Given the description of an element on the screen output the (x, y) to click on. 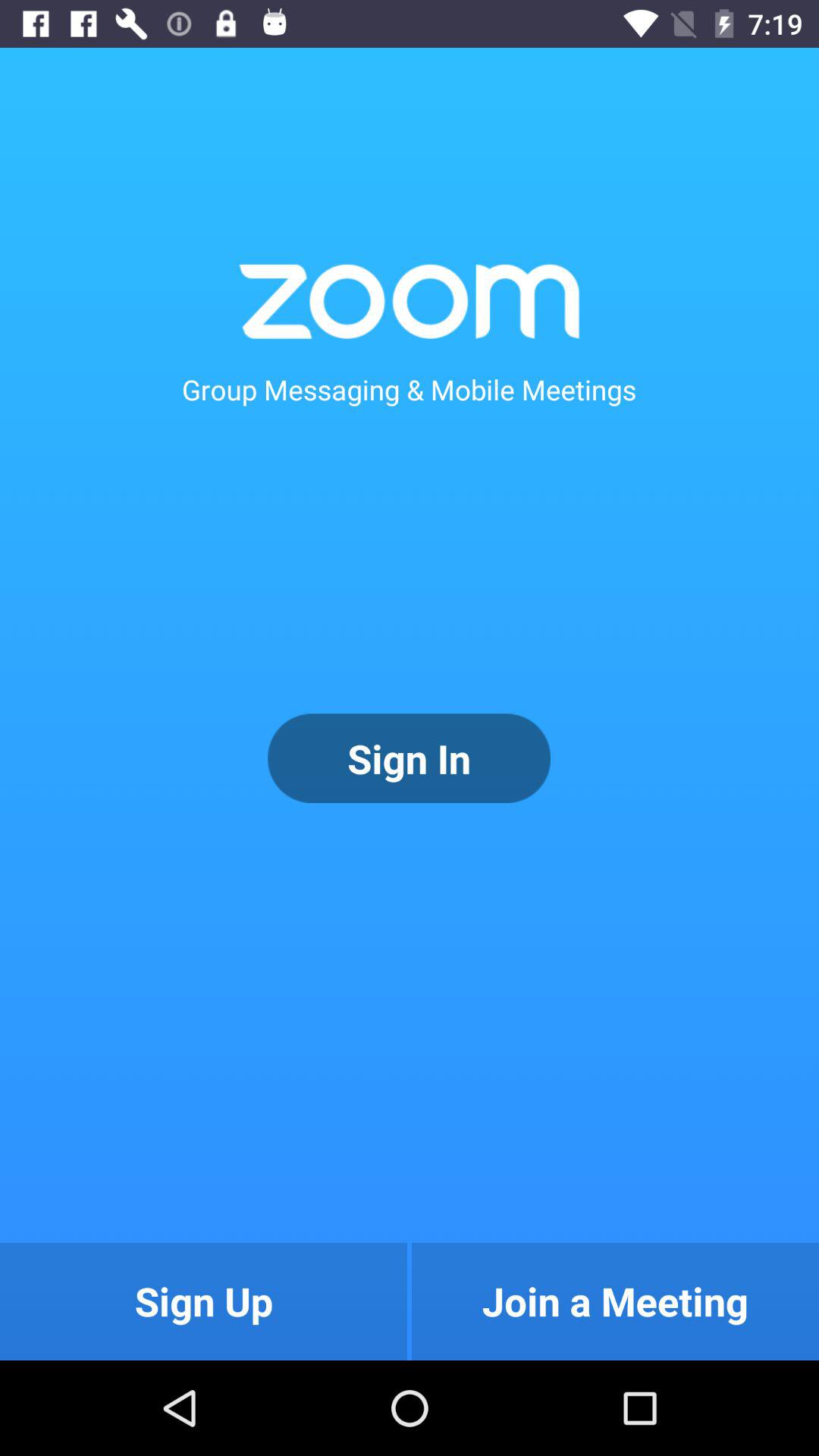
select the button to the right of the sign up (615, 1301)
